Given the description of an element on the screen output the (x, y) to click on. 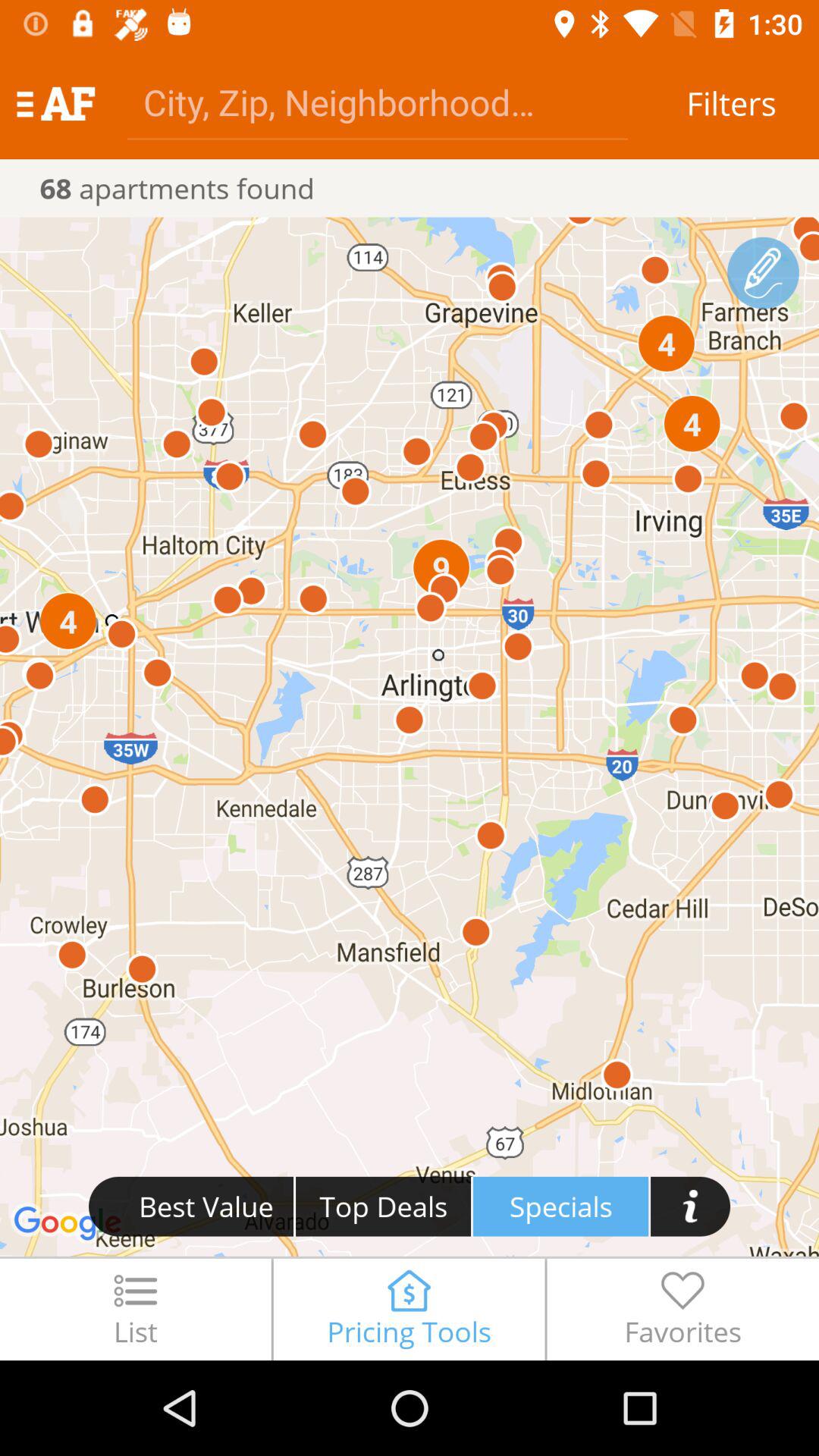
flip until pricing tools item (408, 1309)
